Given the description of an element on the screen output the (x, y) to click on. 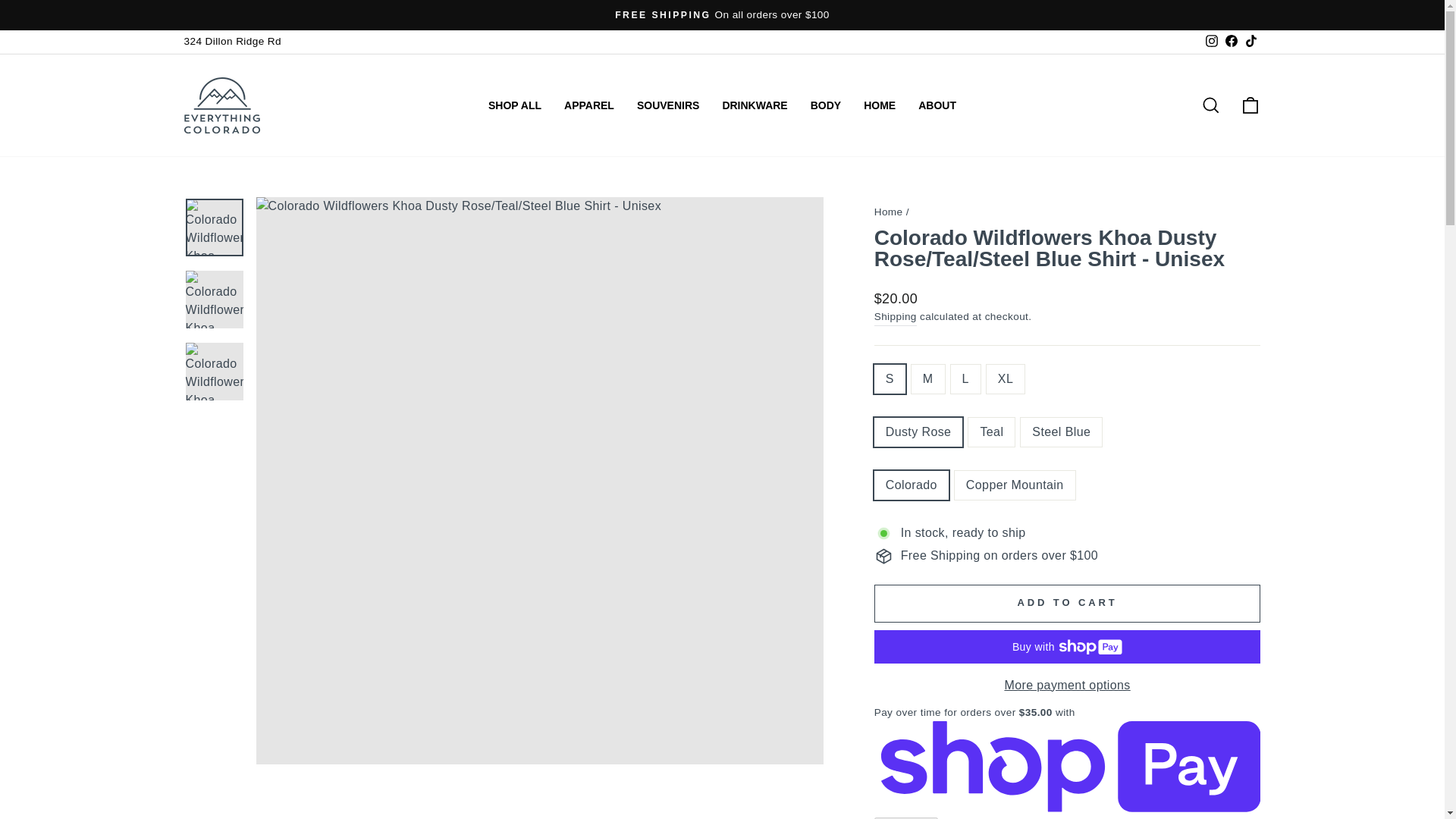
Back to the frontpage (888, 211)
